Given the description of an element on the screen output the (x, y) to click on. 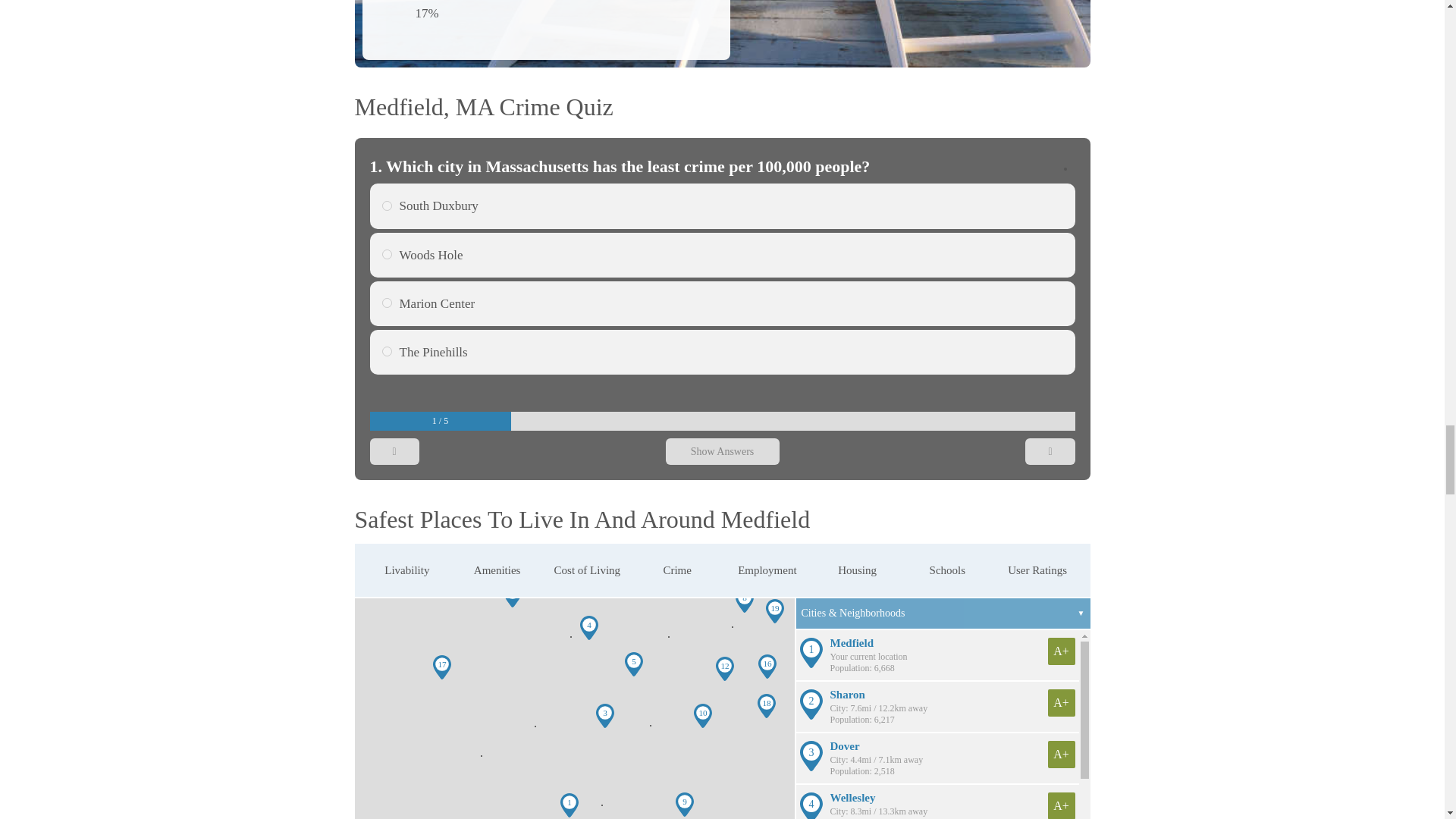
b (1092, 351)
c (386, 302)
b (386, 351)
a (1092, 254)
d (386, 205)
a (386, 254)
c (1092, 302)
d (1092, 205)
